Given the description of an element on the screen output the (x, y) to click on. 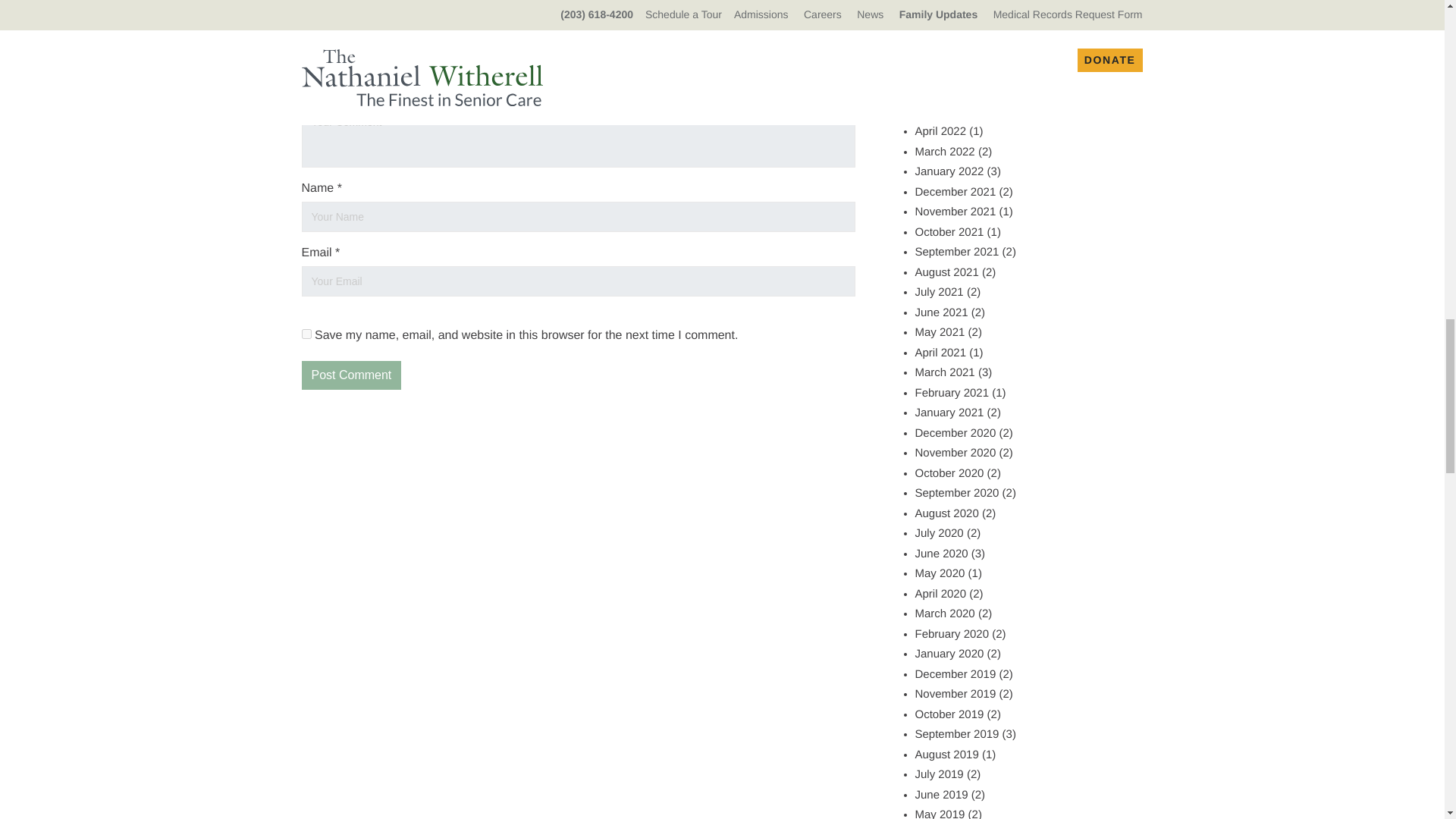
Post Comment (351, 375)
yes (306, 334)
